Given the description of an element on the screen output the (x, y) to click on. 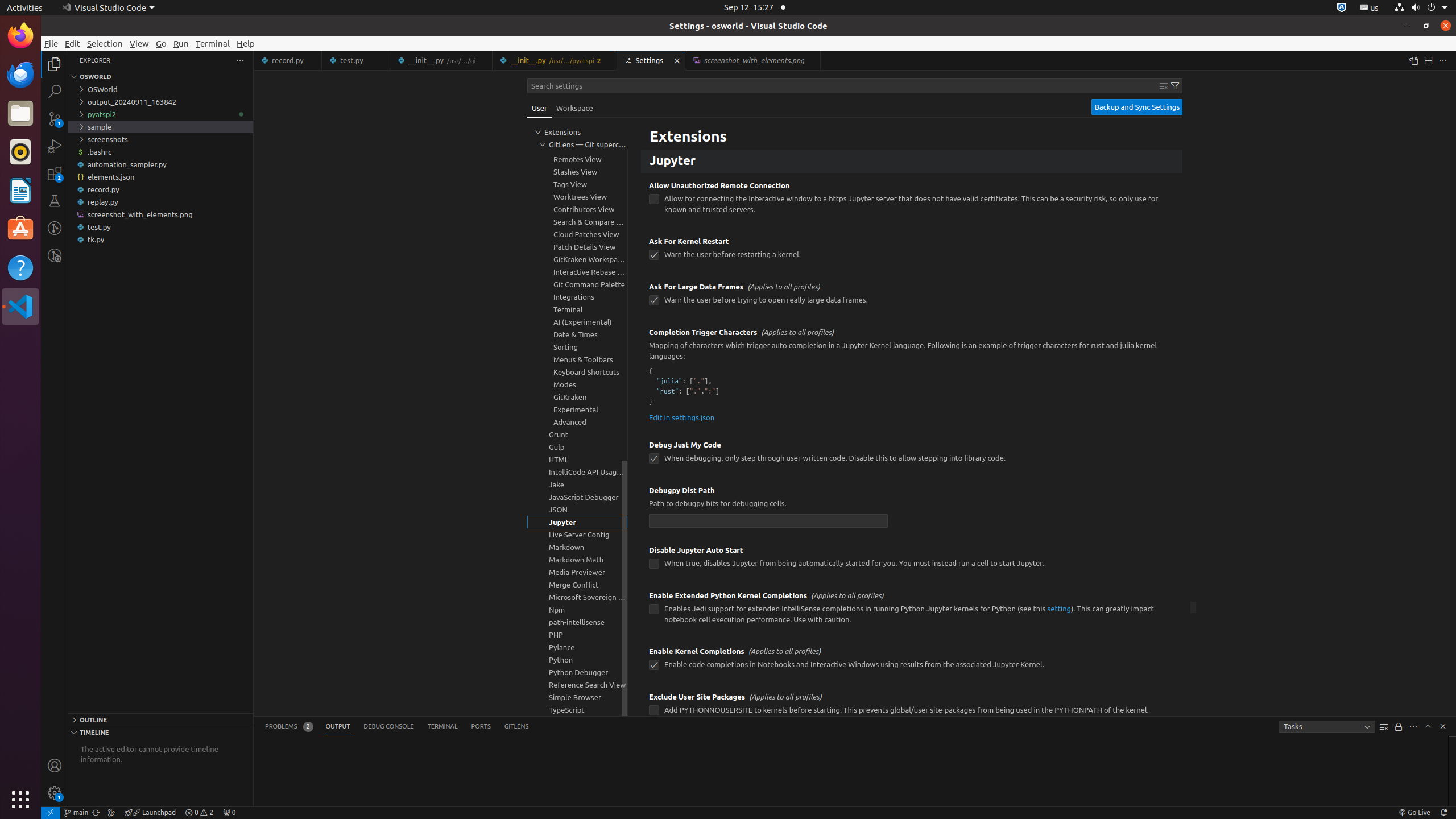
 Enable Kernel Completions. Setting value retained when switching profiles. Enable code completions in Notebooks and Interactive Windows using results from the associated Jupyter Kernel.  Element type: tree-item (911, 661)
replay.py Element type: tree-item (160, 201)
test.py Element type: page-tab (355, 60)
IntelliCode API Usage Examples, group Element type: tree-item (577, 471)
jupyter.askForKernelRestart Element type: check-box (653, 254)
